Given the description of an element on the screen output the (x, y) to click on. 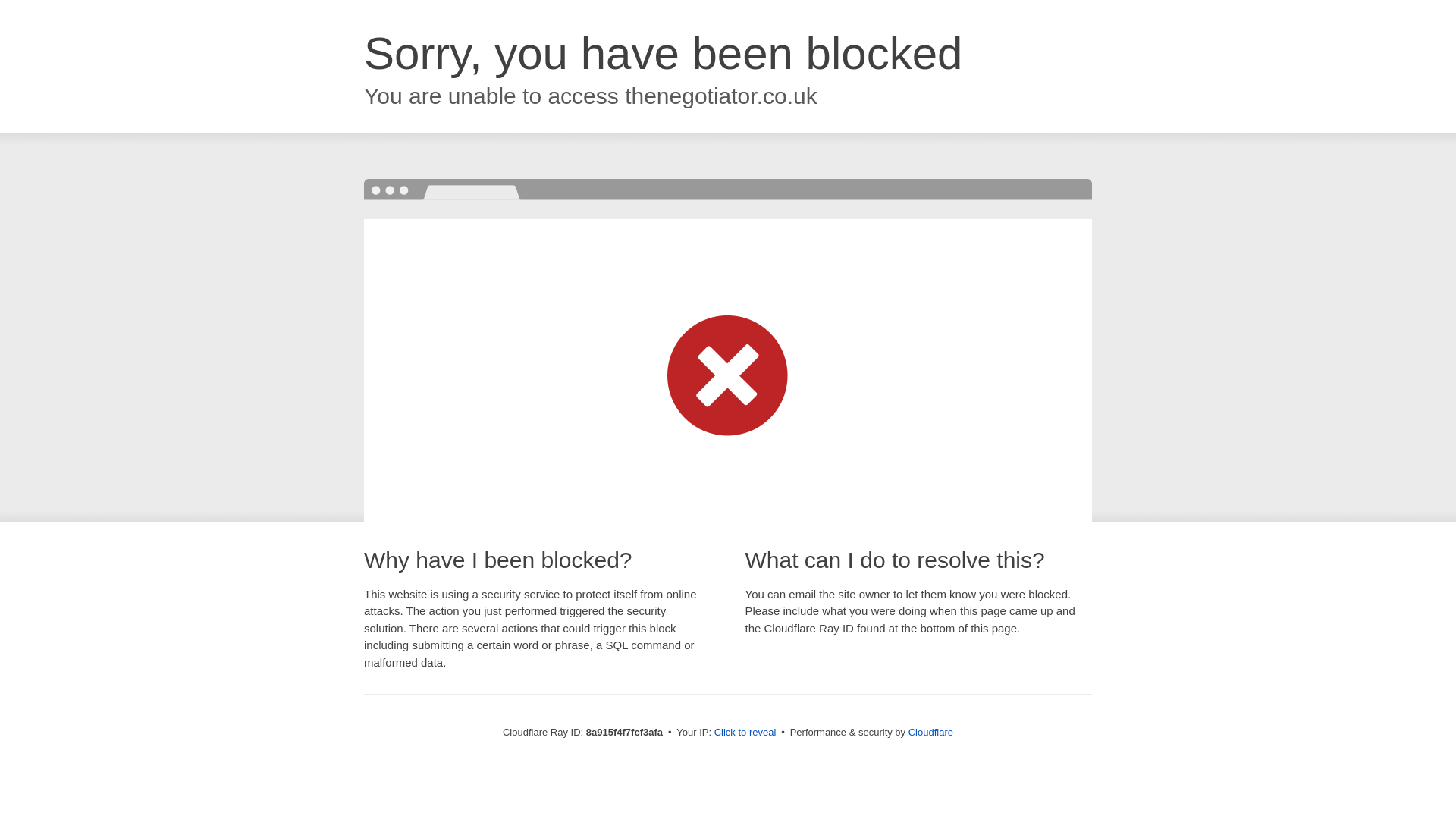
Click to reveal (745, 732)
Cloudflare (930, 731)
